Given the description of an element on the screen output the (x, y) to click on. 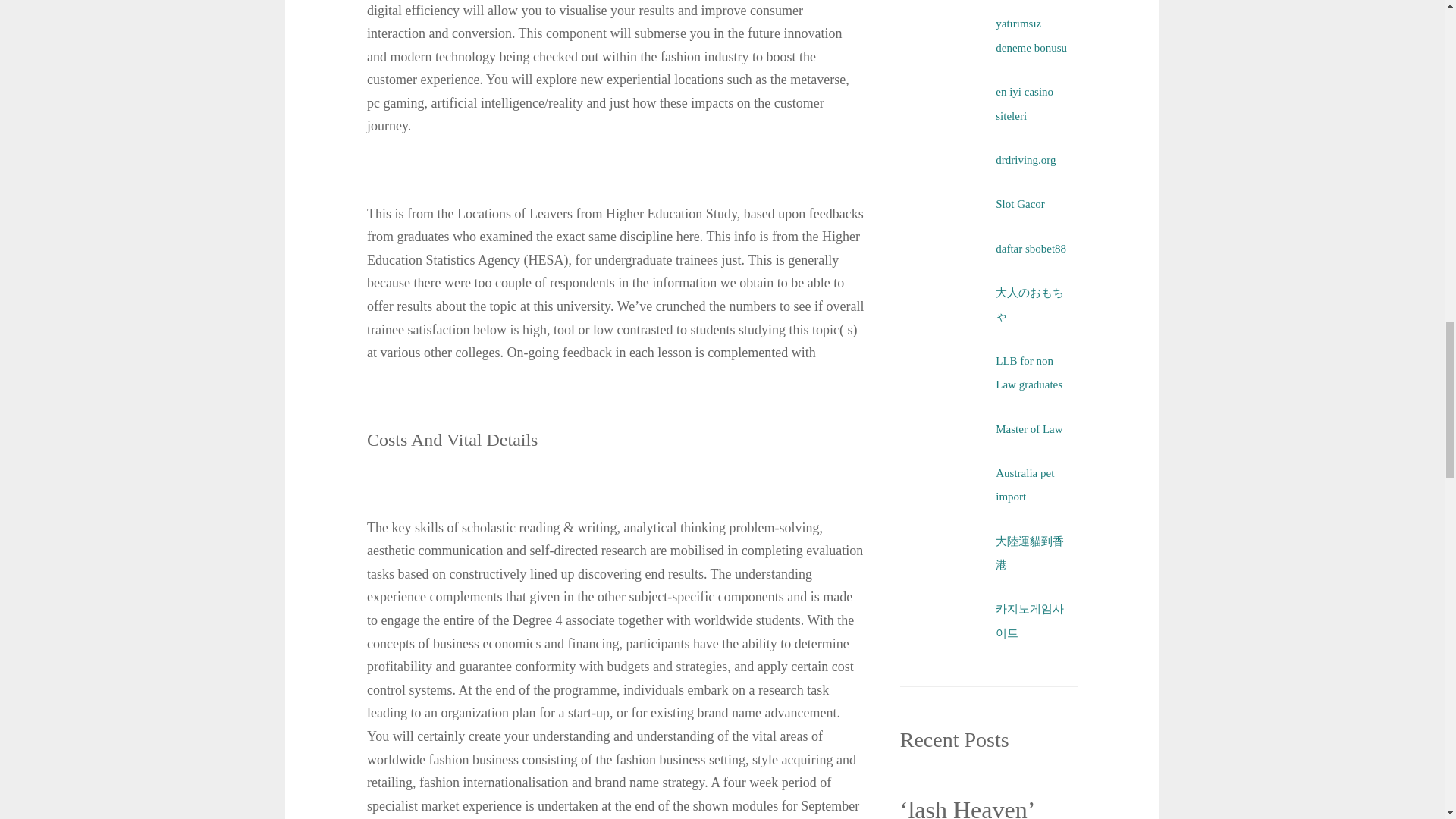
Slot Gacor (1020, 203)
drdriving.org (1025, 159)
daftar sbobet88 (1030, 248)
en iyi casino siteleri (1023, 103)
